Given the description of an element on the screen output the (x, y) to click on. 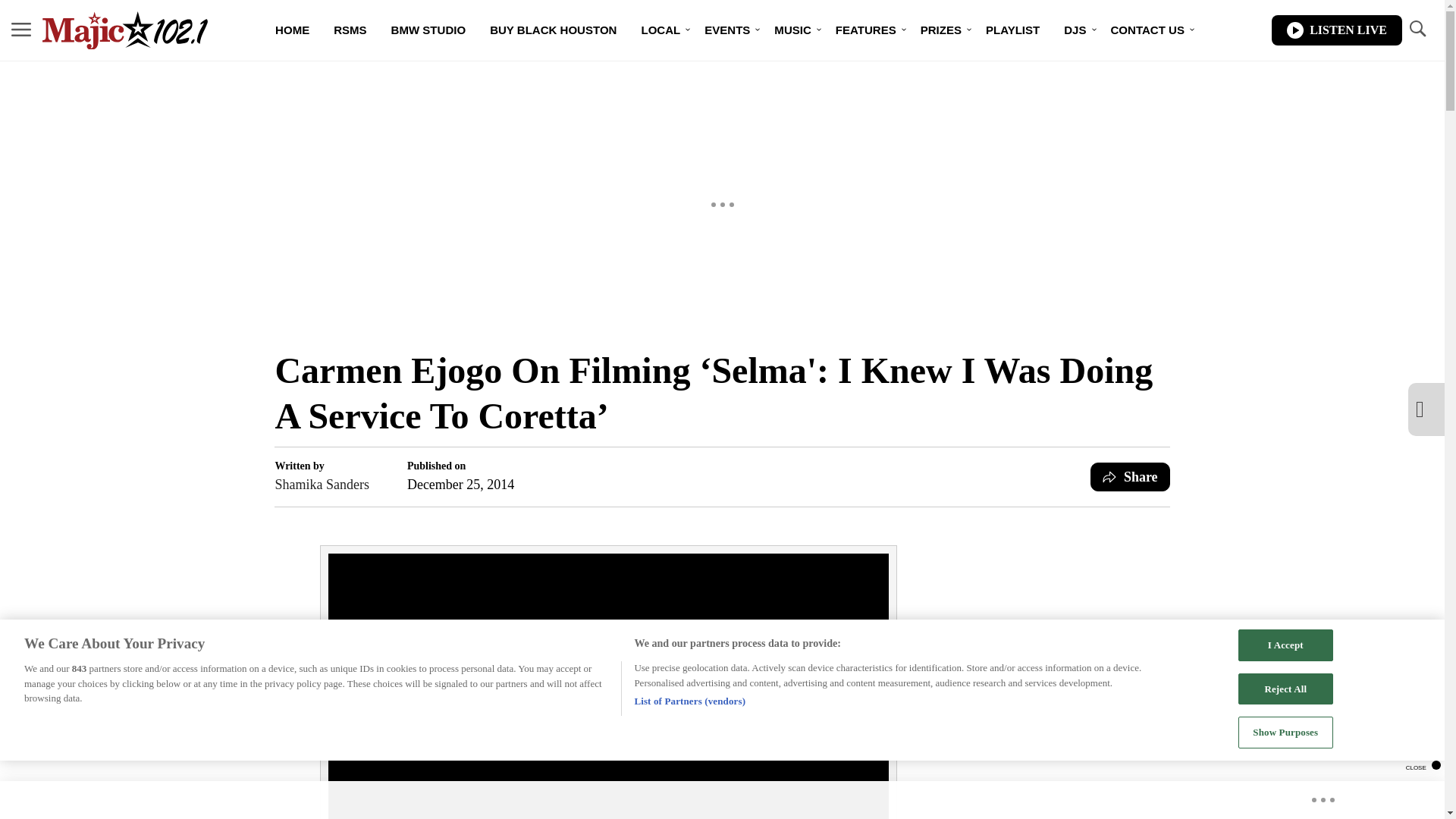
TOGGLE SEARCH (1417, 28)
CONTACT US (1147, 30)
BUY BLACK HOUSTON (552, 30)
BMW STUDIO (428, 30)
MENU (20, 30)
MENU (20, 29)
FEATURES (866, 30)
RSMS (349, 30)
EVENTS (727, 30)
HOME (292, 30)
LOCAL (660, 30)
MUSIC (791, 30)
PRIZES (941, 30)
PLAYLIST (1012, 30)
